Given the description of an element on the screen output the (x, y) to click on. 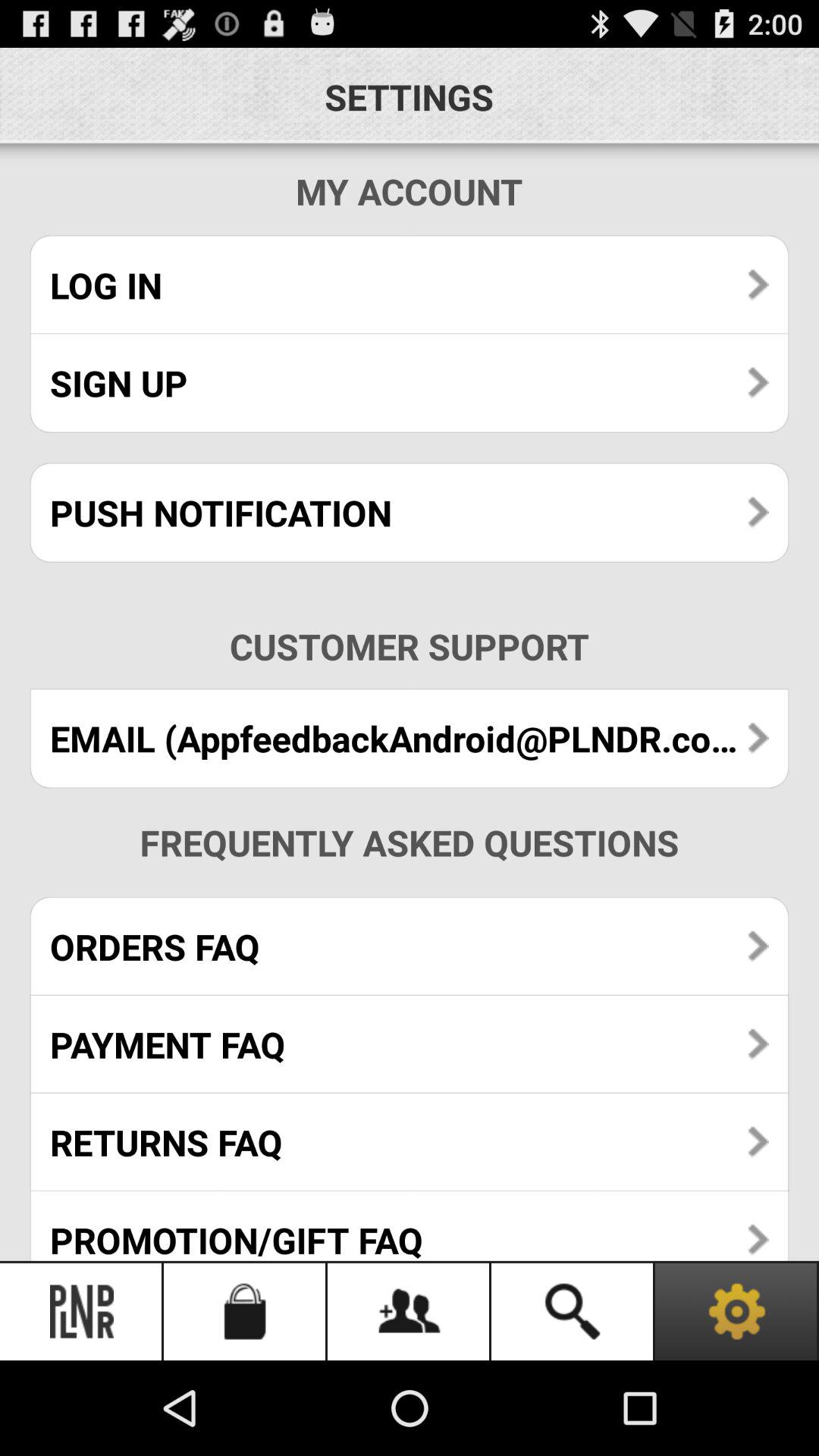
select the item above the payment faq icon (409, 946)
